Given the description of an element on the screen output the (x, y) to click on. 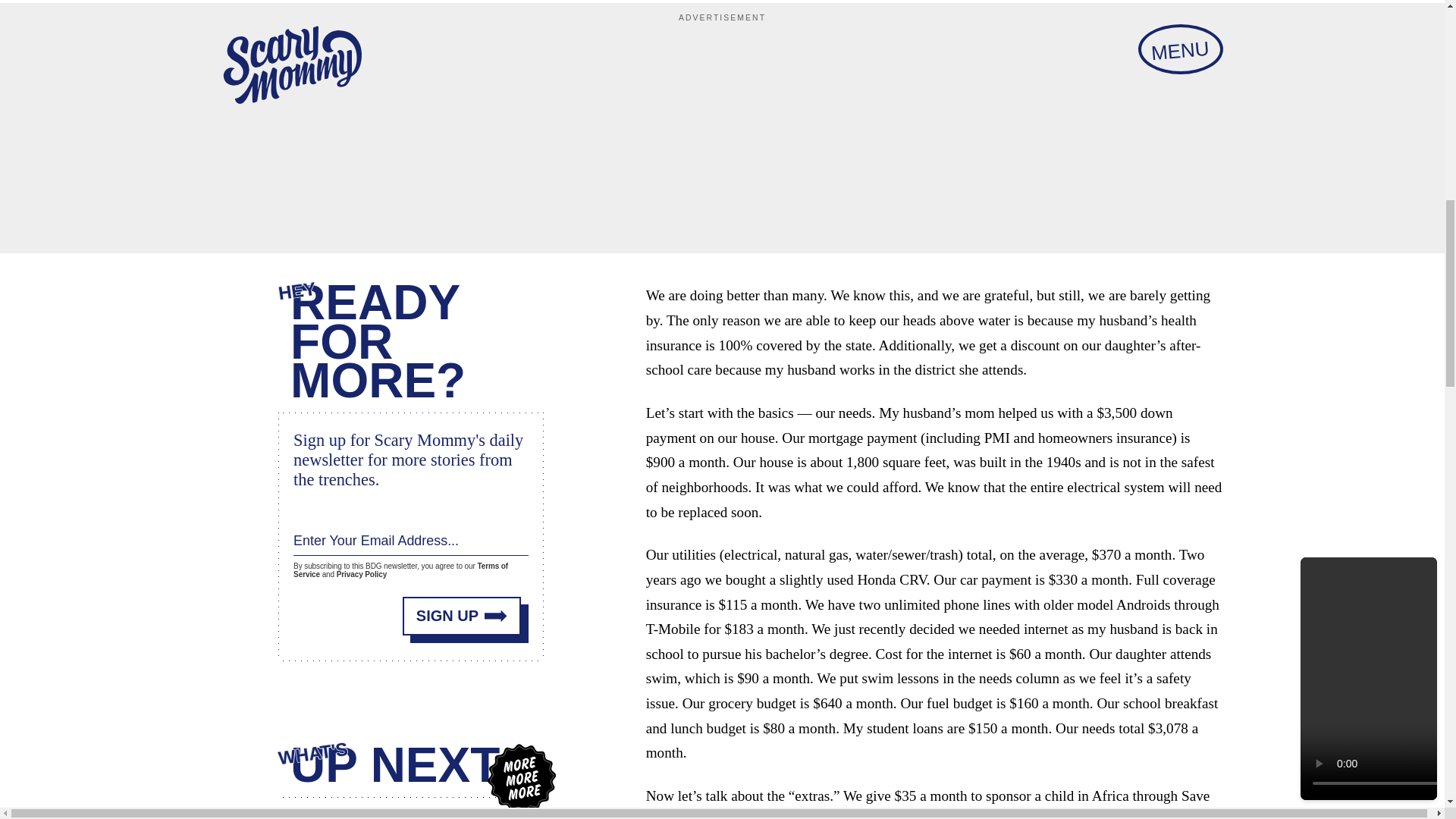
Privacy Policy (361, 574)
Terms of Service (401, 569)
SIGN UP (462, 615)
